Given the description of an element on the screen output the (x, y) to click on. 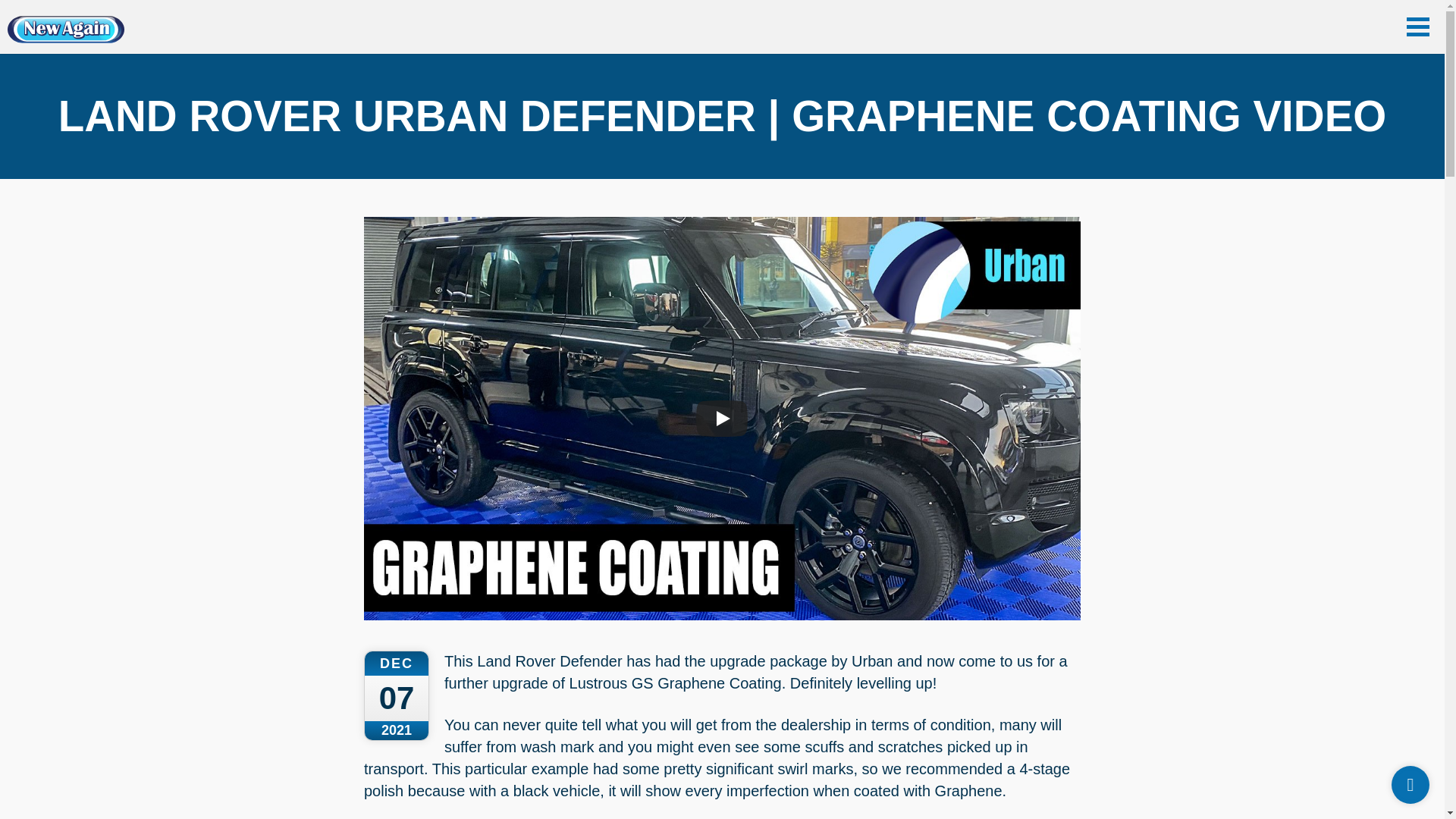
Phone (1410, 784)
Menu (1417, 26)
